Given the description of an element on the screen output the (x, y) to click on. 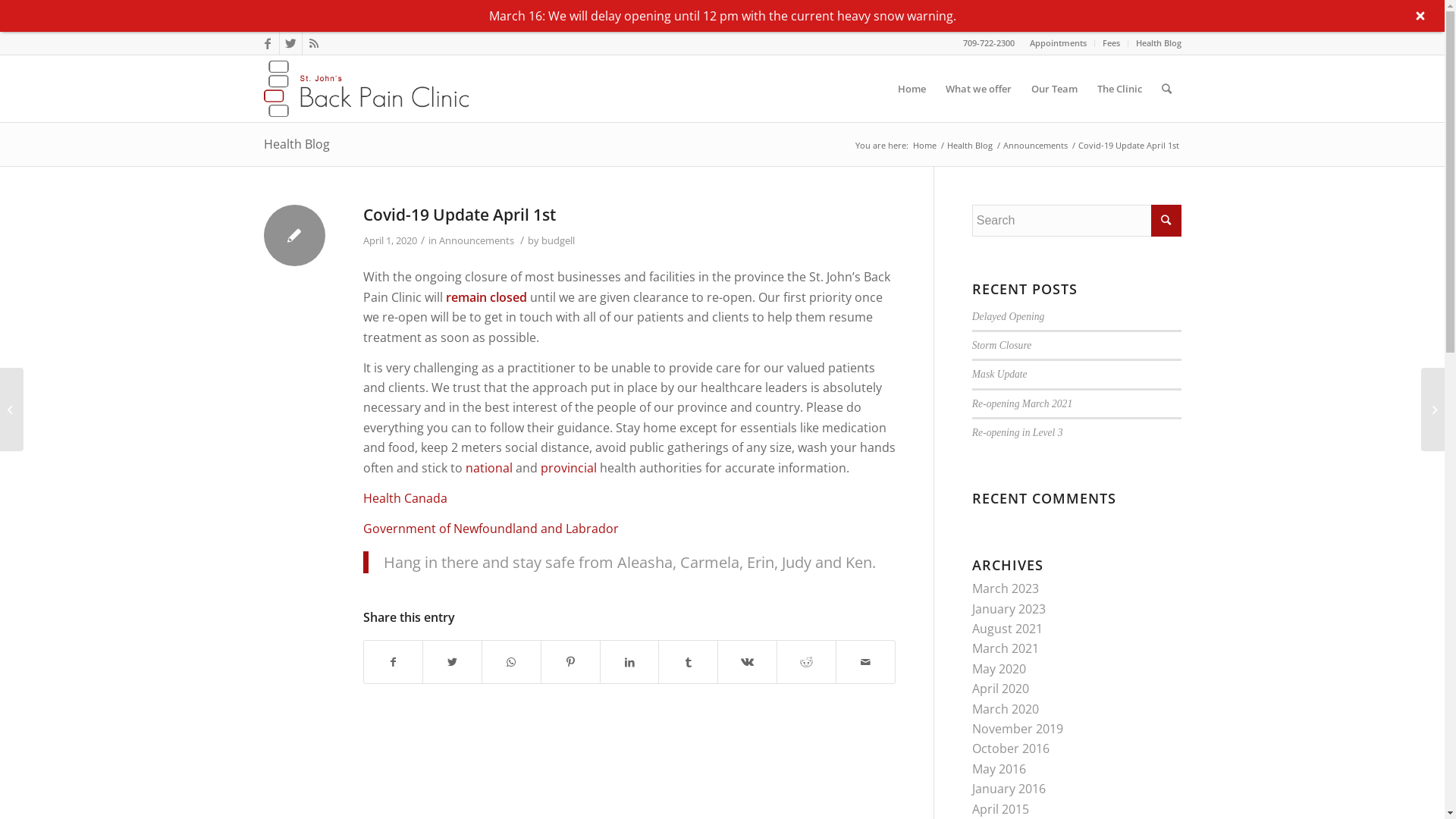
August 2021 Element type: text (1007, 628)
Mask Update Element type: text (999, 373)
March 2023 Element type: text (1005, 588)
Health Blog Element type: text (1158, 42)
November 2019 Element type: text (1017, 728)
Fees Element type: text (1111, 42)
Home Element type: text (911, 88)
May 2020 Element type: text (999, 668)
Health Canada Element type: text (404, 497)
Delayed Opening Element type: text (1008, 316)
Facebook Element type: hover (267, 42)
May 2016 Element type: text (999, 768)
provincial Element type: text (567, 467)
What we offer Element type: text (978, 88)
Government of Newfoundland and Labrador Element type: text (490, 528)
Our Team Element type: text (1053, 88)
Storm Closure Element type: text (1001, 345)
Health Blog Element type: text (296, 143)
Re-opening March 2021 Element type: text (1022, 403)
October 2016 Element type: text (1010, 748)
Health Blog Element type: text (969, 144)
Announcements Element type: text (475, 240)
Twitter Element type: hover (290, 42)
March 2020 Element type: text (1005, 708)
March 2021 Element type: text (1005, 648)
The Clinic Element type: text (1119, 88)
budgell Element type: text (557, 240)
Appointments Element type: text (1057, 42)
Re-opening in Level 3 Element type: text (1017, 432)
Close Element type: hover (1420, 15)
Rss Element type: hover (312, 42)
April 2015 Element type: text (1000, 808)
January 2016 Element type: text (1008, 788)
January 2023 Element type: text (1008, 608)
national Element type: text (488, 467)
Announcements Element type: text (1035, 144)
Home Element type: text (924, 144)
Covid-19 Update April 1st Element type: text (458, 214)
April 2020 Element type: text (1000, 688)
